Given the description of an element on the screen output the (x, y) to click on. 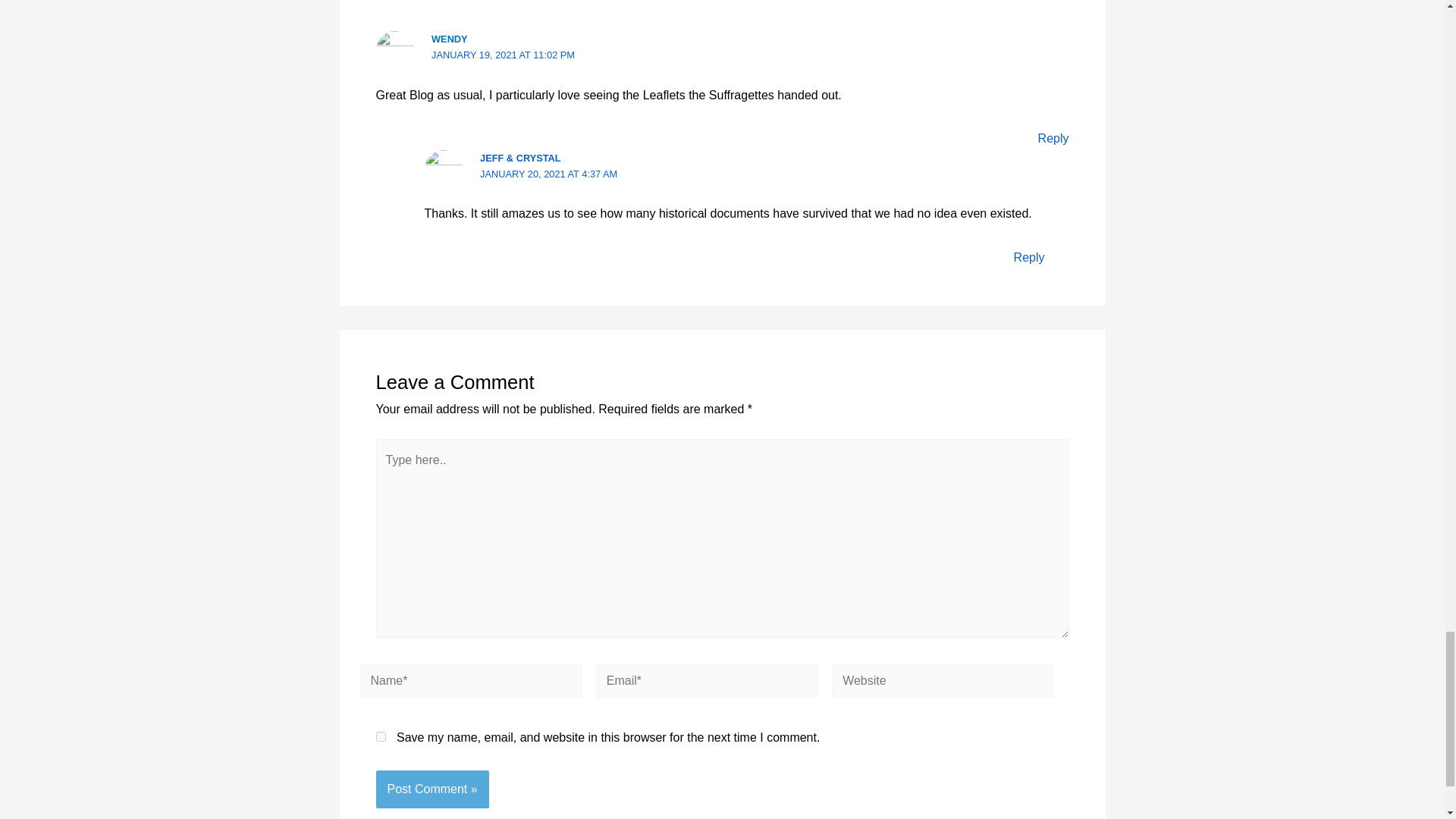
yes (380, 737)
